Given the description of an element on the screen output the (x, y) to click on. 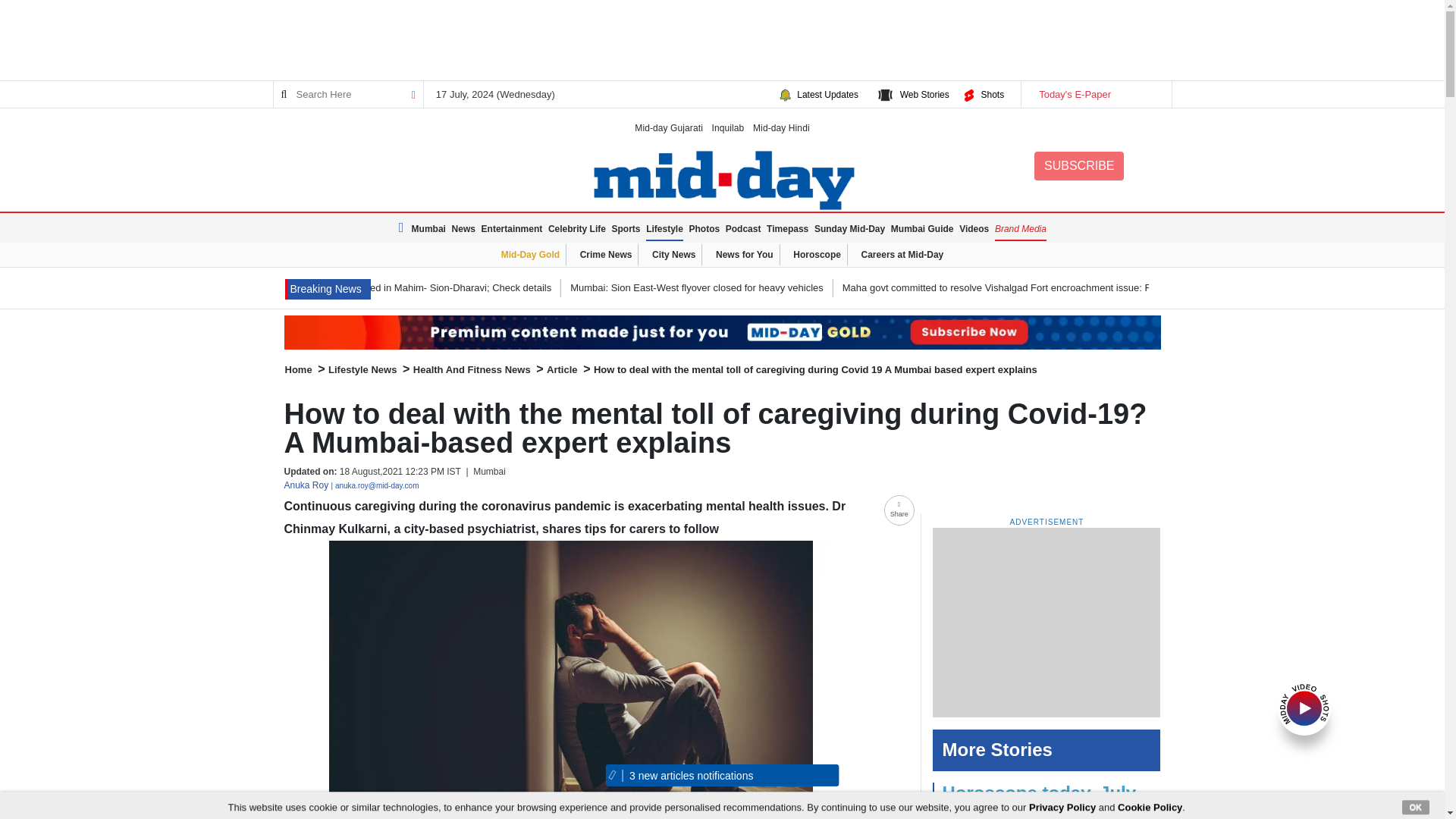
Inquilab (728, 127)
Latest News (403, 227)
Shots (991, 94)
Mid-day Gujarati (668, 127)
Today's E-Paper (1095, 94)
Latest News (328, 289)
SUBSCRIBE (1078, 165)
Web Stories (924, 94)
Latest Updates (827, 94)
Mid-day Hindi (780, 127)
Midday Shot Videos (1304, 706)
Subscription (721, 332)
